Given the description of an element on the screen output the (x, y) to click on. 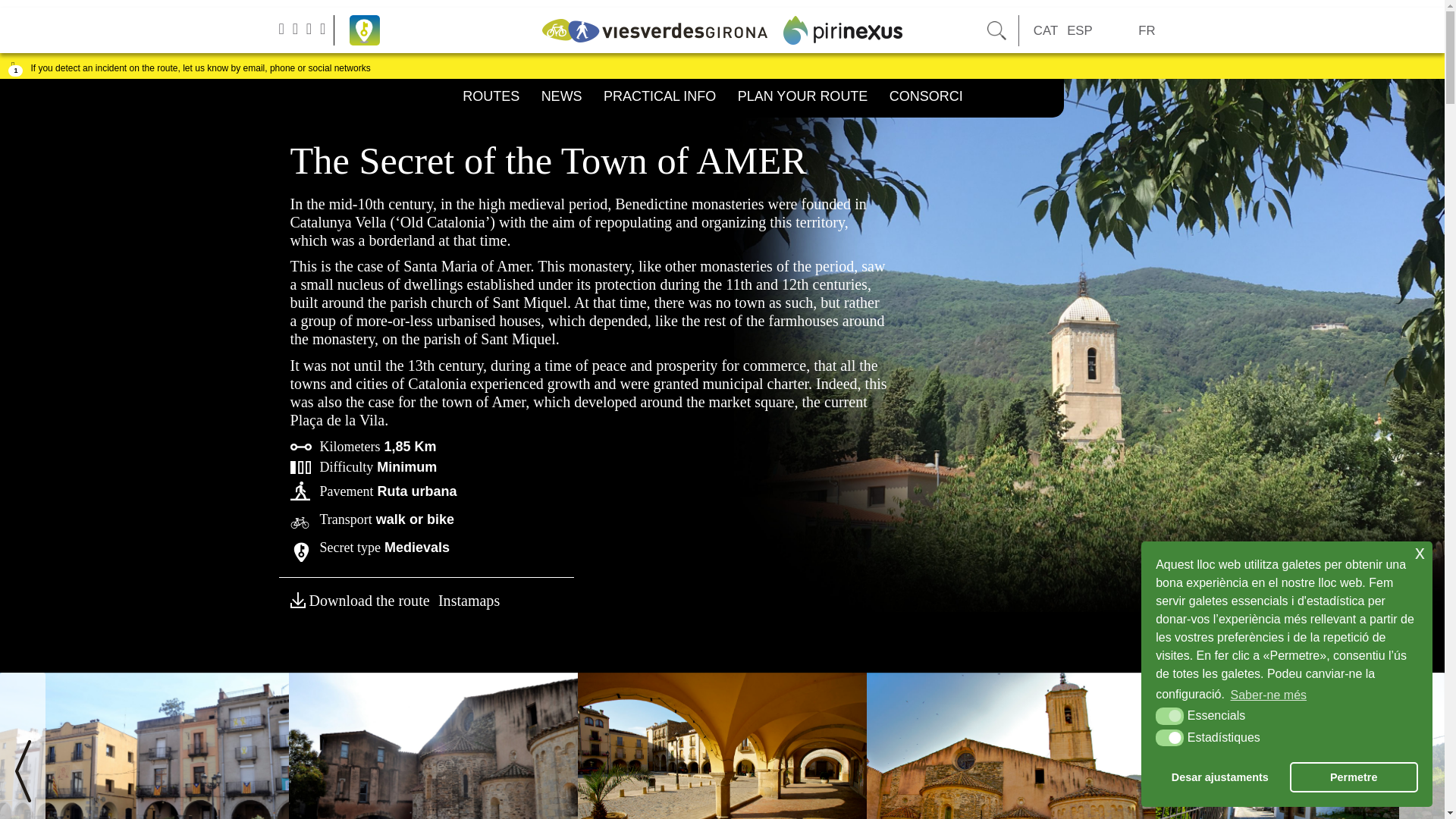
CAT (1045, 31)
ENG (1115, 31)
ROUTES (491, 97)
FR (1146, 31)
ESP (1079, 31)
